Given the description of an element on the screen output the (x, y) to click on. 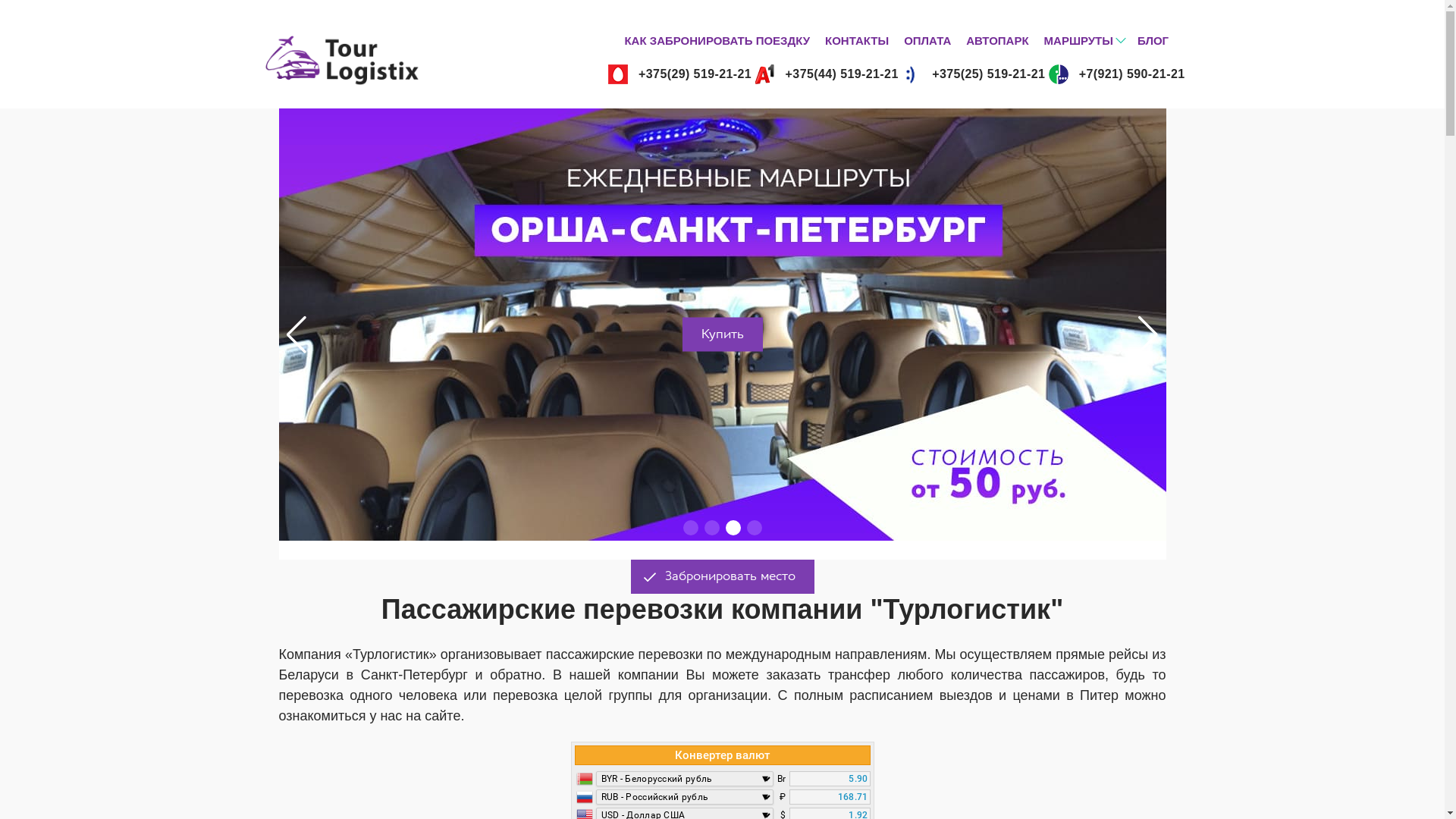
+375(44) 519-21-21 Element type: text (826, 74)
+375(25) 519-21-21 Element type: text (972, 74)
+7(921) 590-21-21 Element type: text (1116, 74)
+375(29) 519-21-21 Element type: text (679, 74)
